Given the description of an element on the screen output the (x, y) to click on. 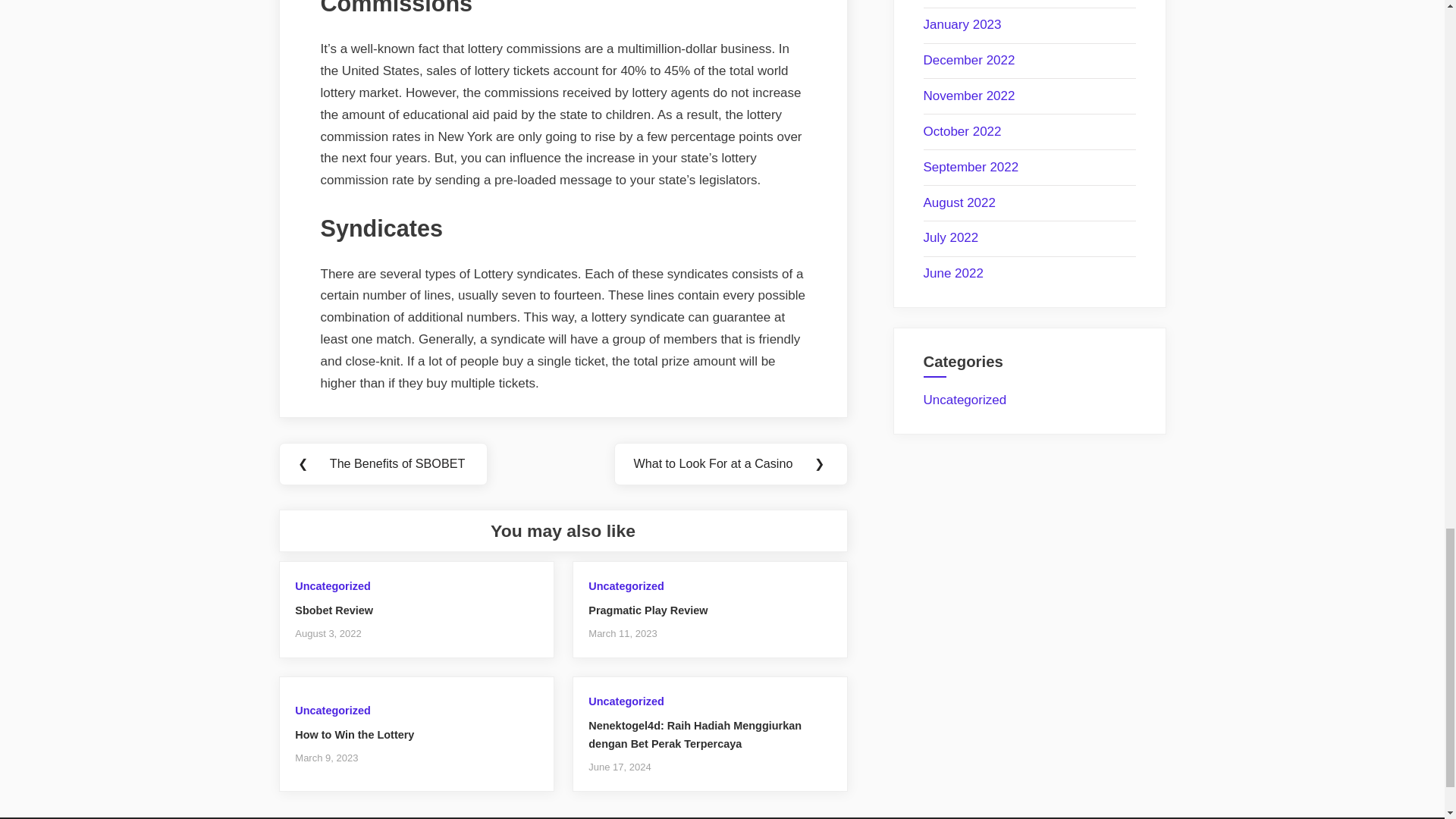
Uncategorized (332, 710)
How to Win the Lottery (354, 734)
Uncategorized (625, 701)
Pragmatic Play Review (647, 610)
Sbobet Review (333, 610)
Uncategorized (332, 585)
Uncategorized (625, 585)
